Given the description of an element on the screen output the (x, y) to click on. 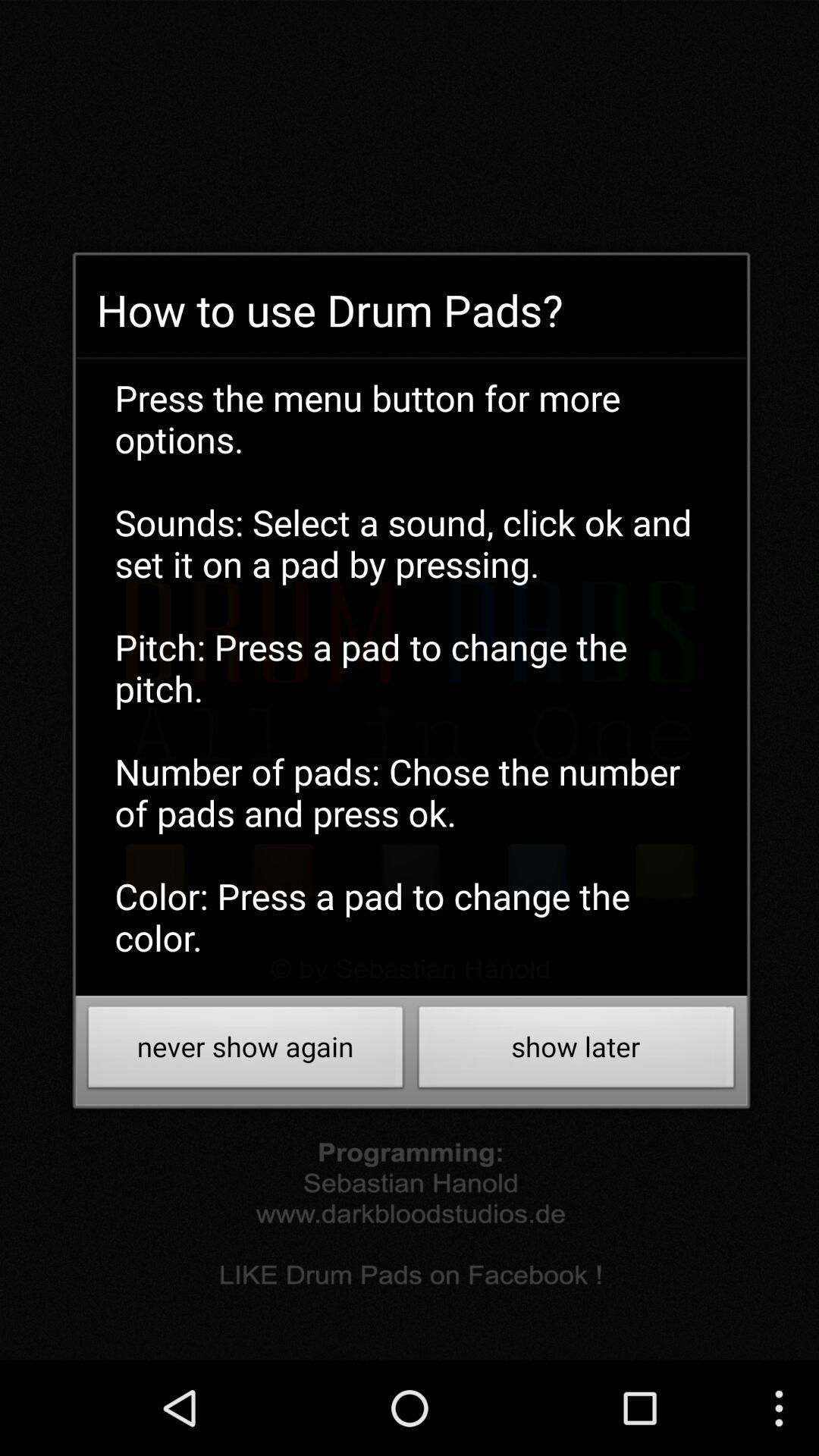
flip until never show again item (245, 1051)
